Given the description of an element on the screen output the (x, y) to click on. 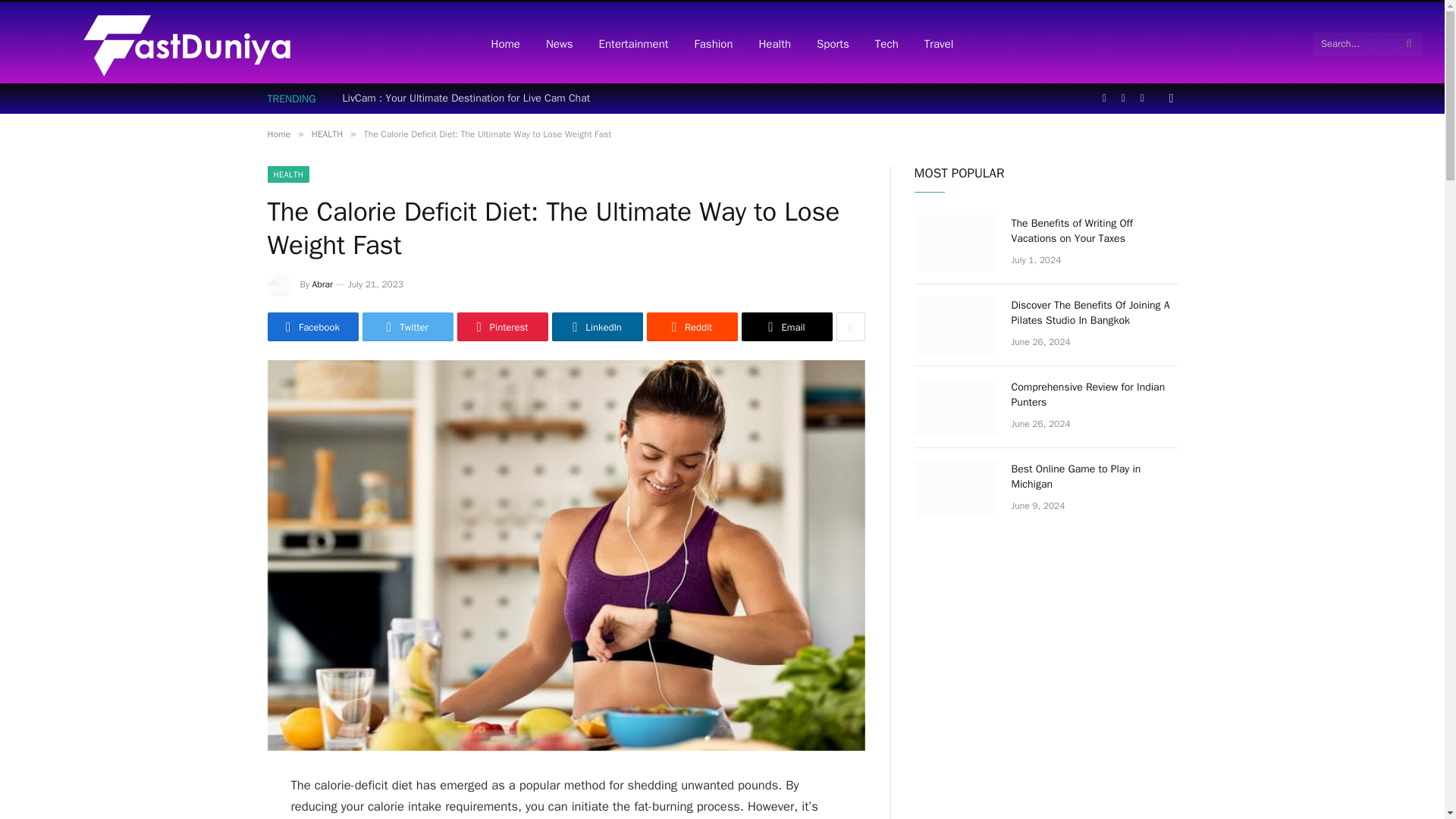
HEALTH (287, 174)
Share on Facebook (312, 326)
Abrar (323, 284)
Share on Reddit (691, 326)
Posts by Abrar (323, 284)
HEALTH (326, 133)
Share via Email (786, 326)
Facebook (312, 326)
LivCam : Your Ultimate Destination for Live Cam Chat (470, 98)
Switch to Dark Design - easier on eyes. (1168, 98)
